Given the description of an element on the screen output the (x, y) to click on. 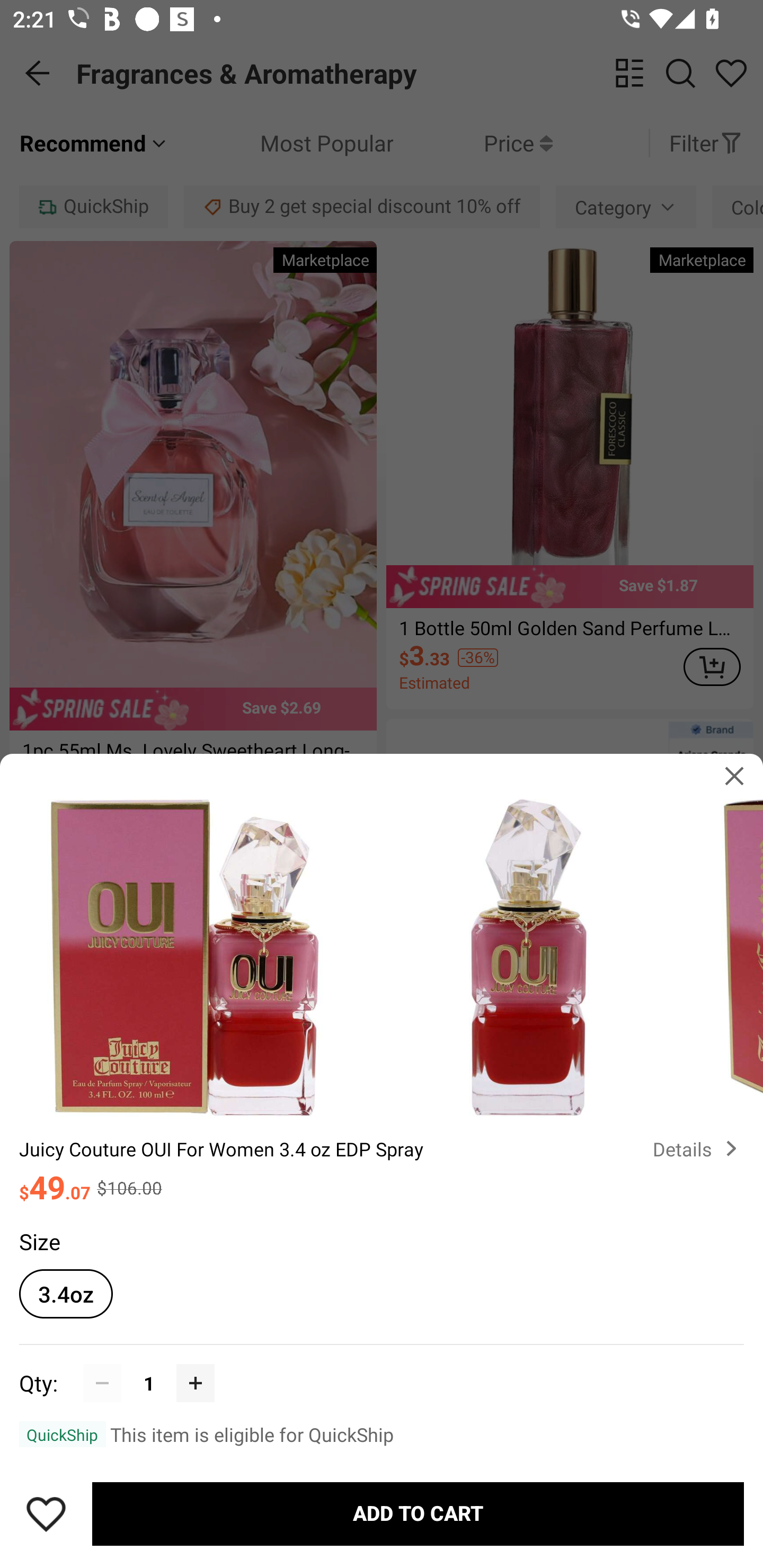
Details (698, 1148)
Size (39, 1240)
3.4oz 3.4ozselected option (65, 1293)
ADD TO CART (417, 1513)
Save (46, 1513)
